Given the description of an element on the screen output the (x, y) to click on. 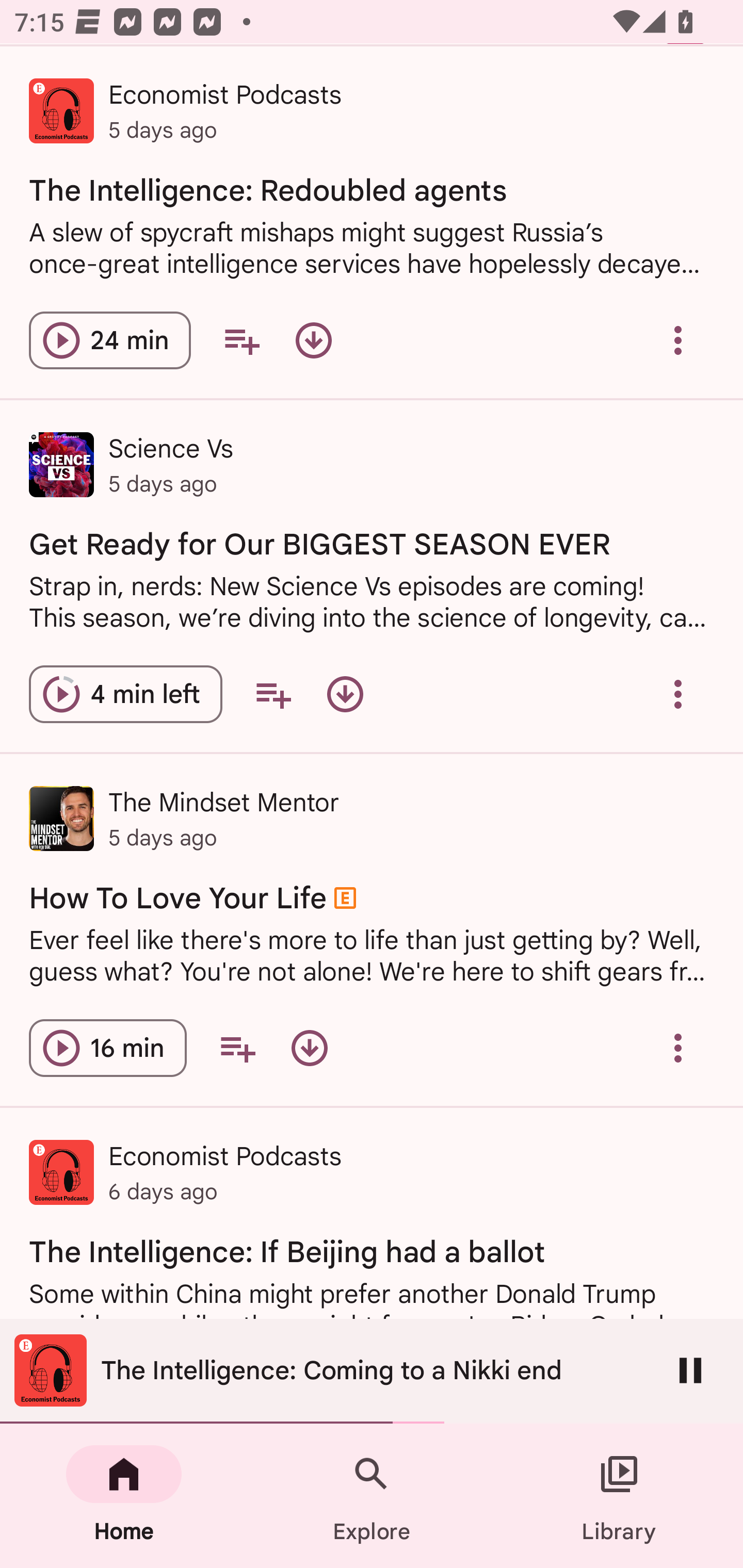
Add to your queue (241, 340)
Download episode (313, 340)
Overflow menu (677, 340)
Add to your queue (273, 693)
Download episode (345, 693)
Overflow menu (677, 693)
Play episode How To Love Your Life 16 min (107, 1048)
Add to your queue (237, 1048)
Download episode (309, 1048)
Overflow menu (677, 1048)
Pause (690, 1370)
Explore (371, 1495)
Library (619, 1495)
